Given the description of an element on the screen output the (x, y) to click on. 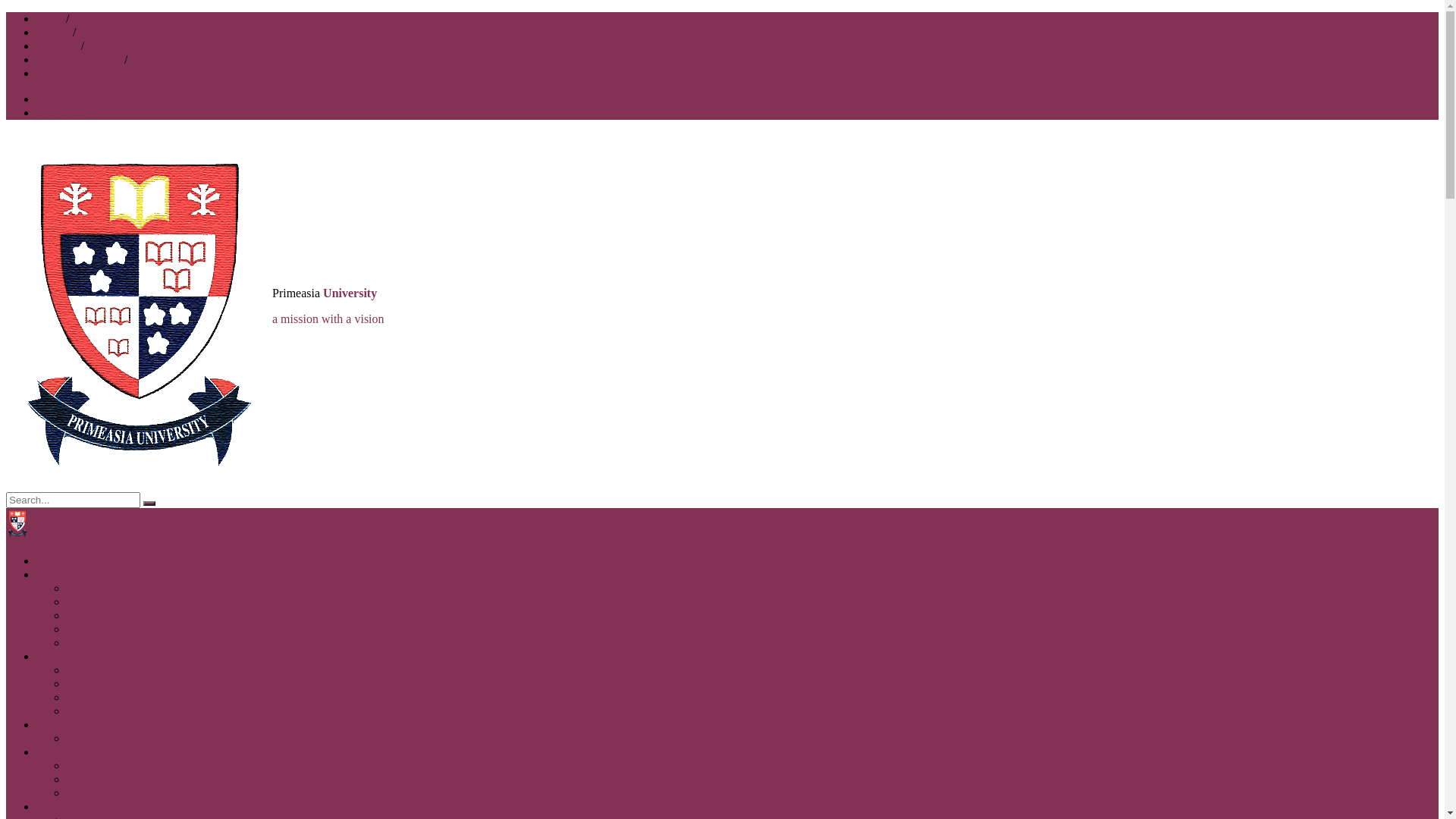
Course Offerings Element type: text (108, 737)
Library Element type: text (54, 31)
Technical Staff Element type: text (103, 710)
Our Events Element type: text (93, 628)
Undergraduate Element type: text (72, 724)
UMS-Login Element type: text (65, 112)
Administration Element type: text (72, 655)
Department News Element type: text (110, 614)
Home Element type: text (50, 18)
E-Payment Element type: text (63, 72)
Message from Head Element type: text (115, 669)
About Us Element type: text (59, 573)
Faculty Member Element type: text (106, 683)
Online Admission Element type: text (80, 59)
Photo Gallery Element type: text (100, 642)
Administrative Staff Element type: text (116, 696)
Introduction Element type: text (96, 587)
Moot Court Room Element type: text (111, 765)
FAQ Element type: text (78, 792)
Research Element type: text (58, 45)
WebMail Element type: text (58, 98)
Library Element type: text (84, 778)
Research Element type: text (58, 806)
Mission & Vision Element type: text (109, 601)
Resources Element type: text (61, 751)
